Given the description of an element on the screen output the (x, y) to click on. 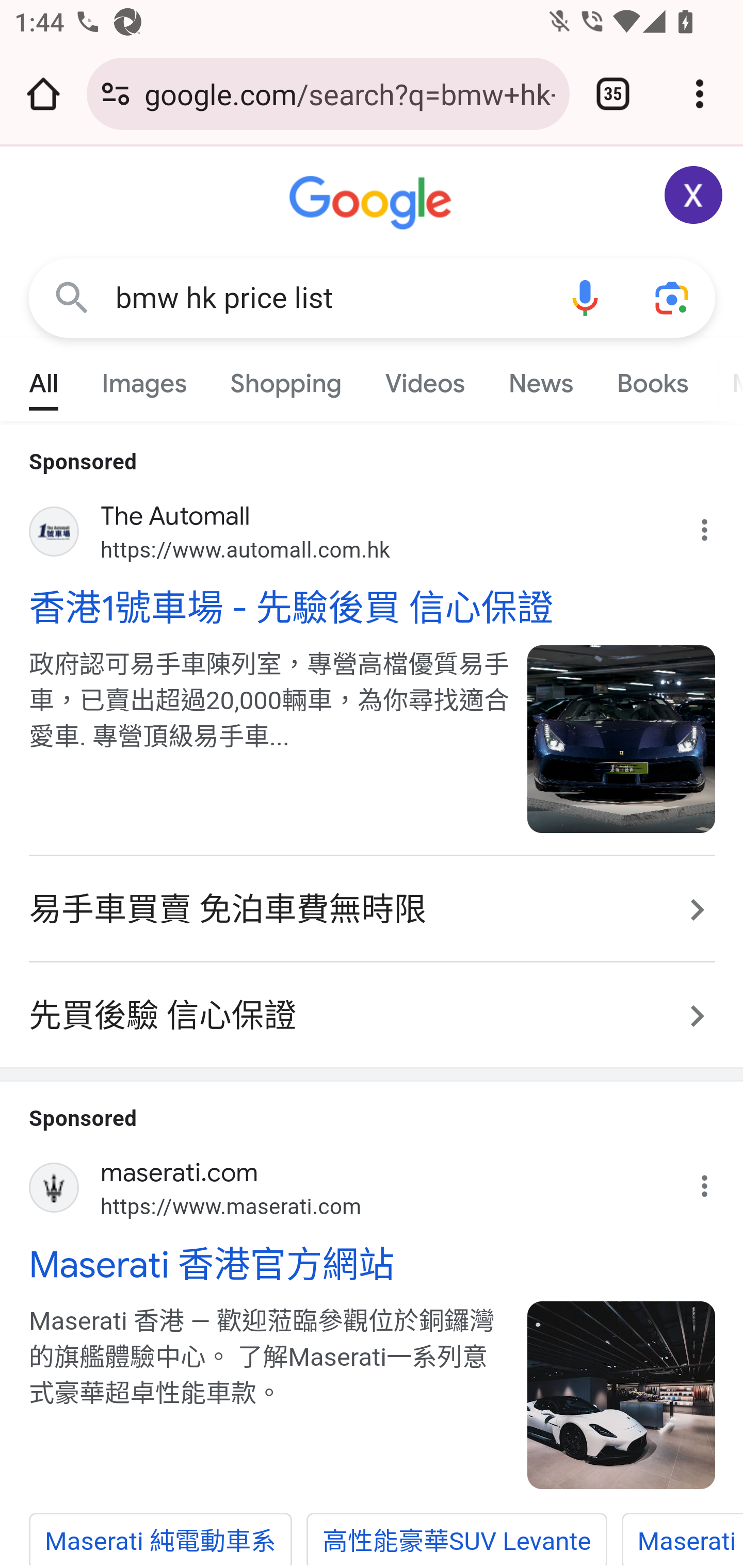
Open the home page (43, 93)
Connection is secure (115, 93)
Switch or close tabs (612, 93)
Customize and control Google Chrome (699, 93)
Google (372, 203)
Google Account: Xiaoran (zxrappiumtest@gmail.com) (694, 195)
Google Search (71, 296)
Search using your camera or photos (672, 296)
bmw hk price list (328, 297)
Images (144, 378)
Shopping (285, 378)
Videos (424, 378)
News (540, 378)
Books (652, 378)
Why this ad? (714, 525)
香港1號車場 - 先驗後買 信心保證 (372, 608)
Image from automall.com.hk (621, 739)
易手車買賣 免泊車費無時限 (372, 910)
先買後驗 信心保證 (372, 1006)
Why this ad? (714, 1181)
Maserati 香港官方網站 (372, 1263)
Image from maserati.com (621, 1395)
Maserati 純電動車系 (160, 1538)
高性能豪華SUV Levante (456, 1538)
Maserati Grecale SUV (682, 1538)
